Given the description of an element on the screen output the (x, y) to click on. 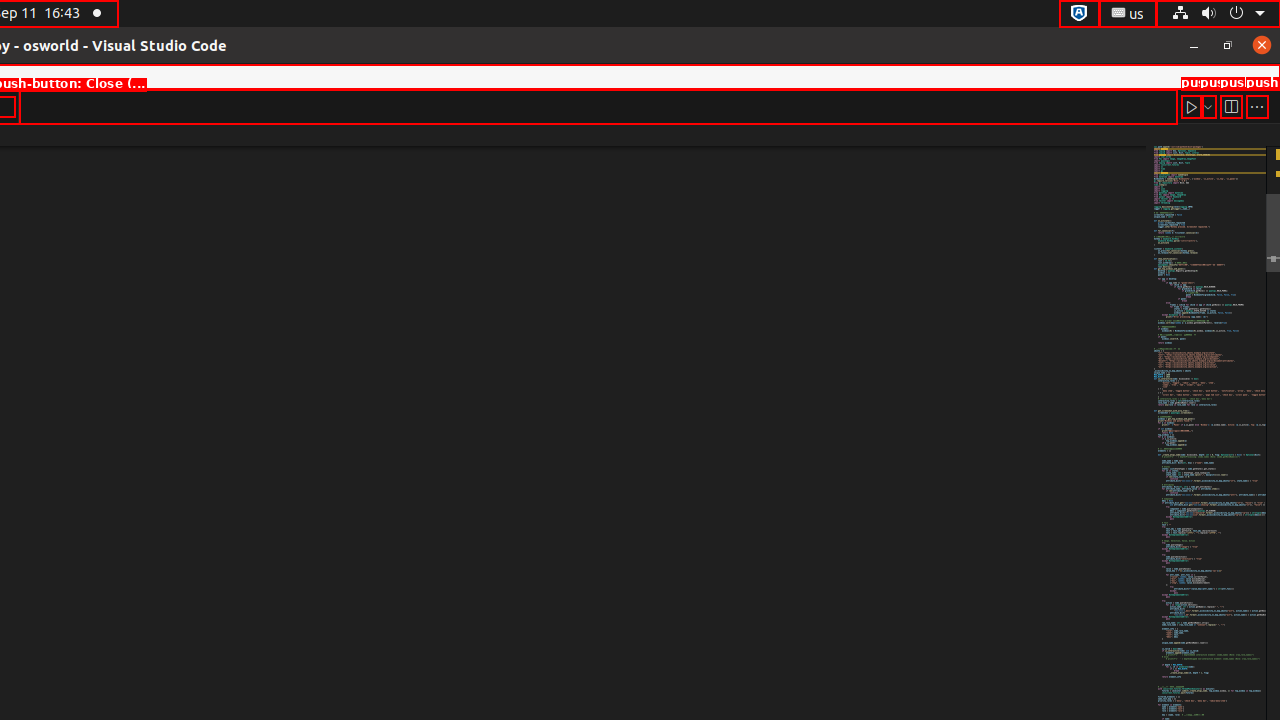
Split Editor Right (Ctrl+\) [Alt] Split Editor Down Element type: push-button (1231, 106)
